Given the description of an element on the screen output the (x, y) to click on. 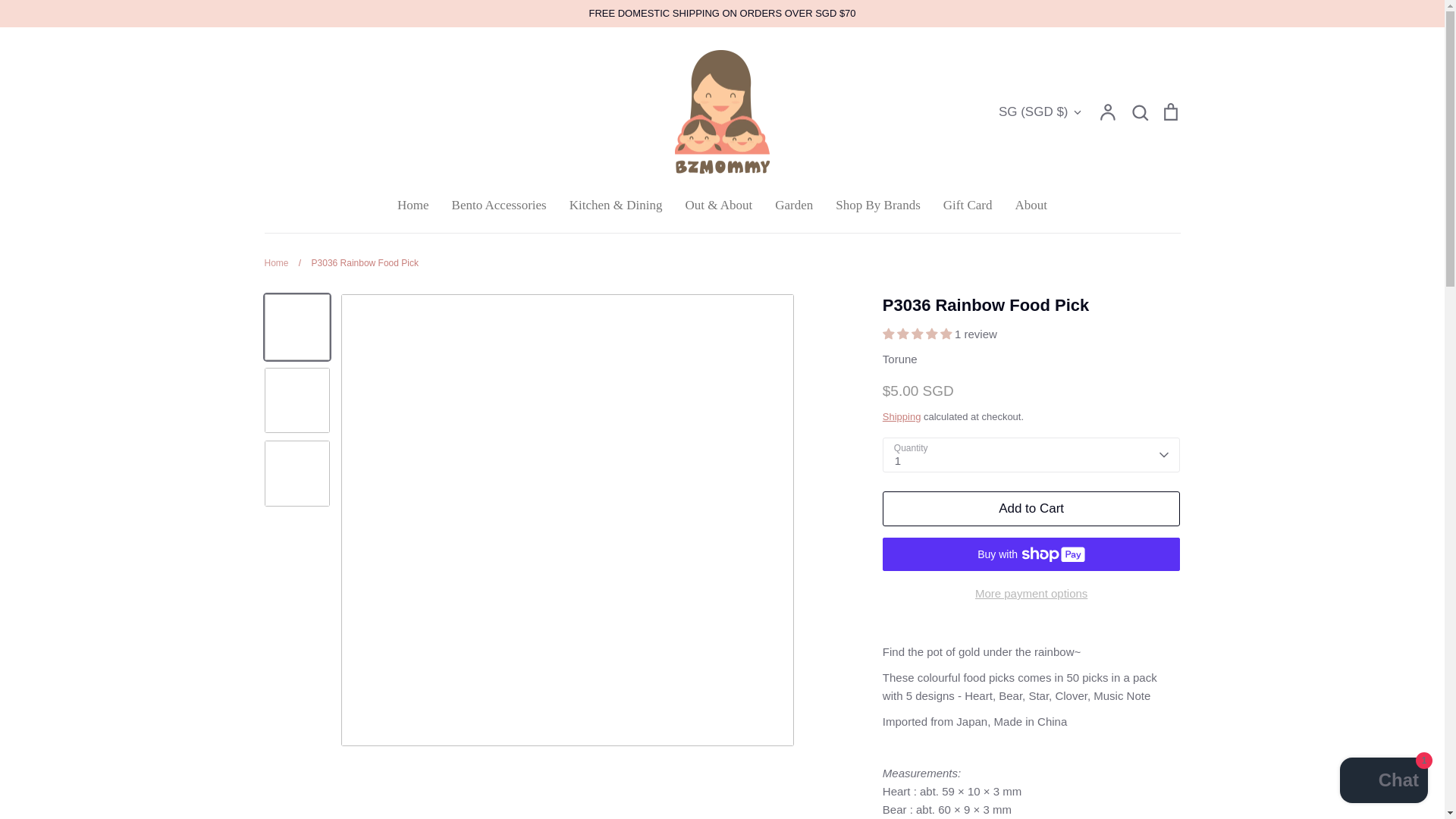
Account (1107, 110)
Cart (1169, 110)
Search (1139, 110)
Shopify online store chat (1383, 781)
